Given the description of an element on the screen output the (x, y) to click on. 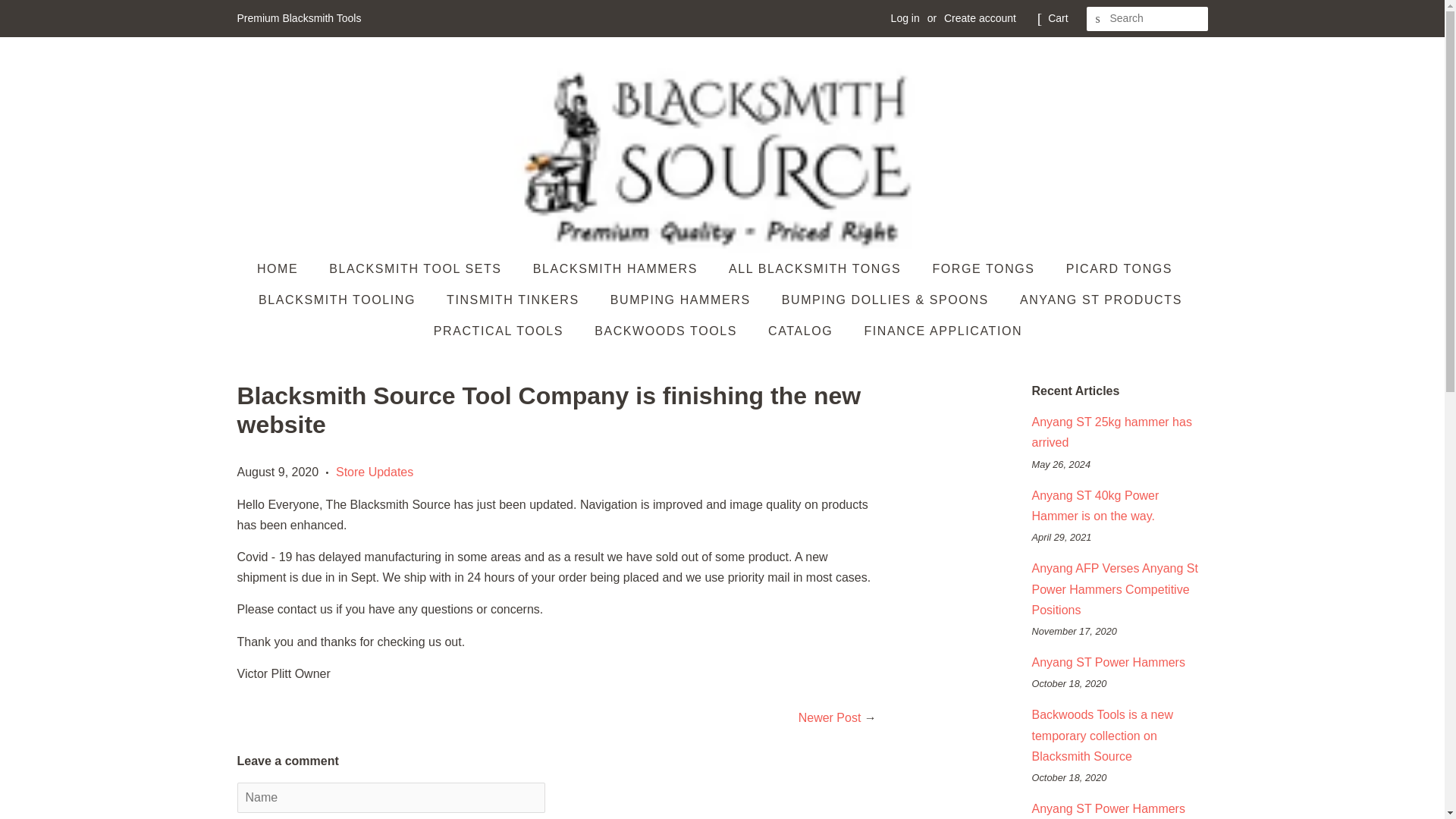
ANYANG ST PRODUCTS (1102, 299)
BACKWOODS TOOLS (667, 330)
Cart (1057, 18)
BLACKSMITH HAMMERS (617, 268)
TINSMITH TINKERS (514, 299)
SEARCH (1097, 18)
BLACKSMITH TOOLING (338, 299)
PICARD TONGS (1121, 268)
BLACKSMITH TOOL SETS (416, 268)
FORGE TONGS (984, 268)
PRACTICAL TOOLS (500, 330)
BUMPING HAMMERS (681, 299)
HOME (285, 268)
CATALOG (802, 330)
Log in (905, 18)
